Given the description of an element on the screen output the (x, y) to click on. 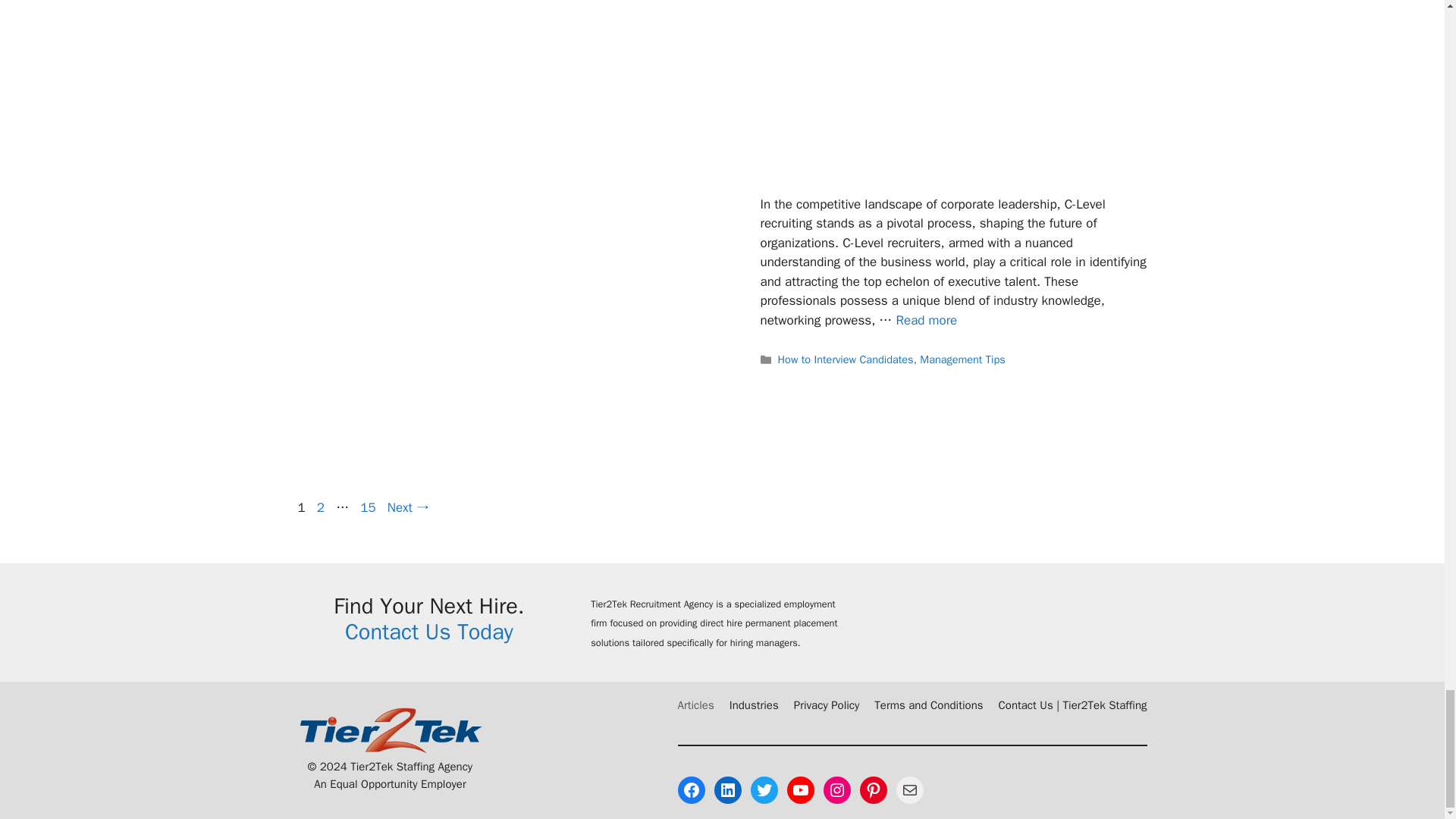
Expertise in Executive Search: Defining C-Level Recruitment (925, 320)
